Given the description of an element on the screen output the (x, y) to click on. 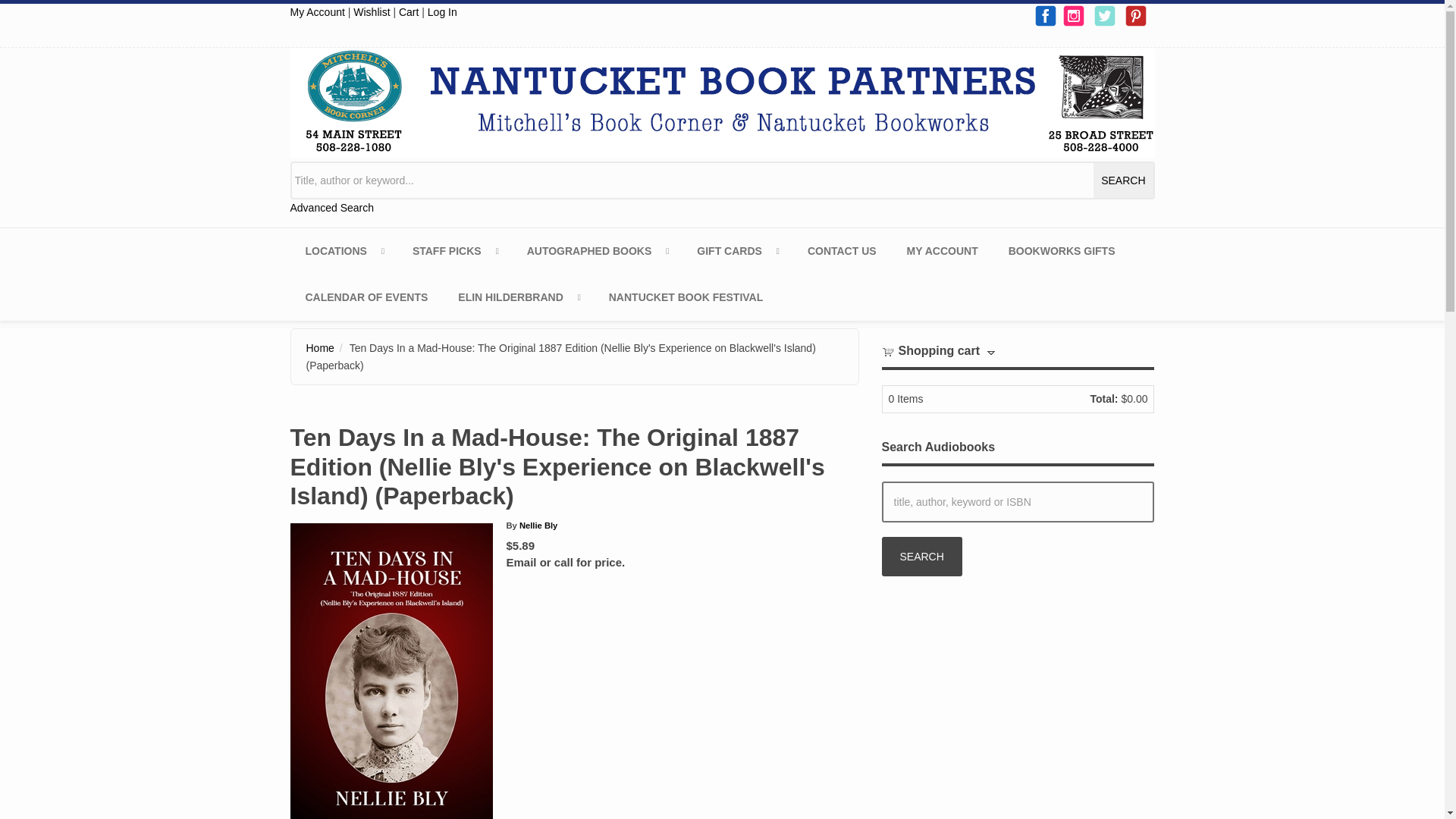
Wishlist (371, 11)
title, author, keyword or ISBN (1017, 501)
ELIN HILDERBRAND (517, 297)
CALENDAR OF EVENTS (365, 297)
Search (920, 556)
MY ACCOUNT (941, 251)
Log In (442, 11)
search (1123, 180)
GIFT CARDS (736, 251)
LOCATIONS (342, 251)
Cart (408, 11)
Advanced Search (331, 207)
Home (721, 101)
STAFF PICKS (454, 251)
